Given the description of an element on the screen output the (x, y) to click on. 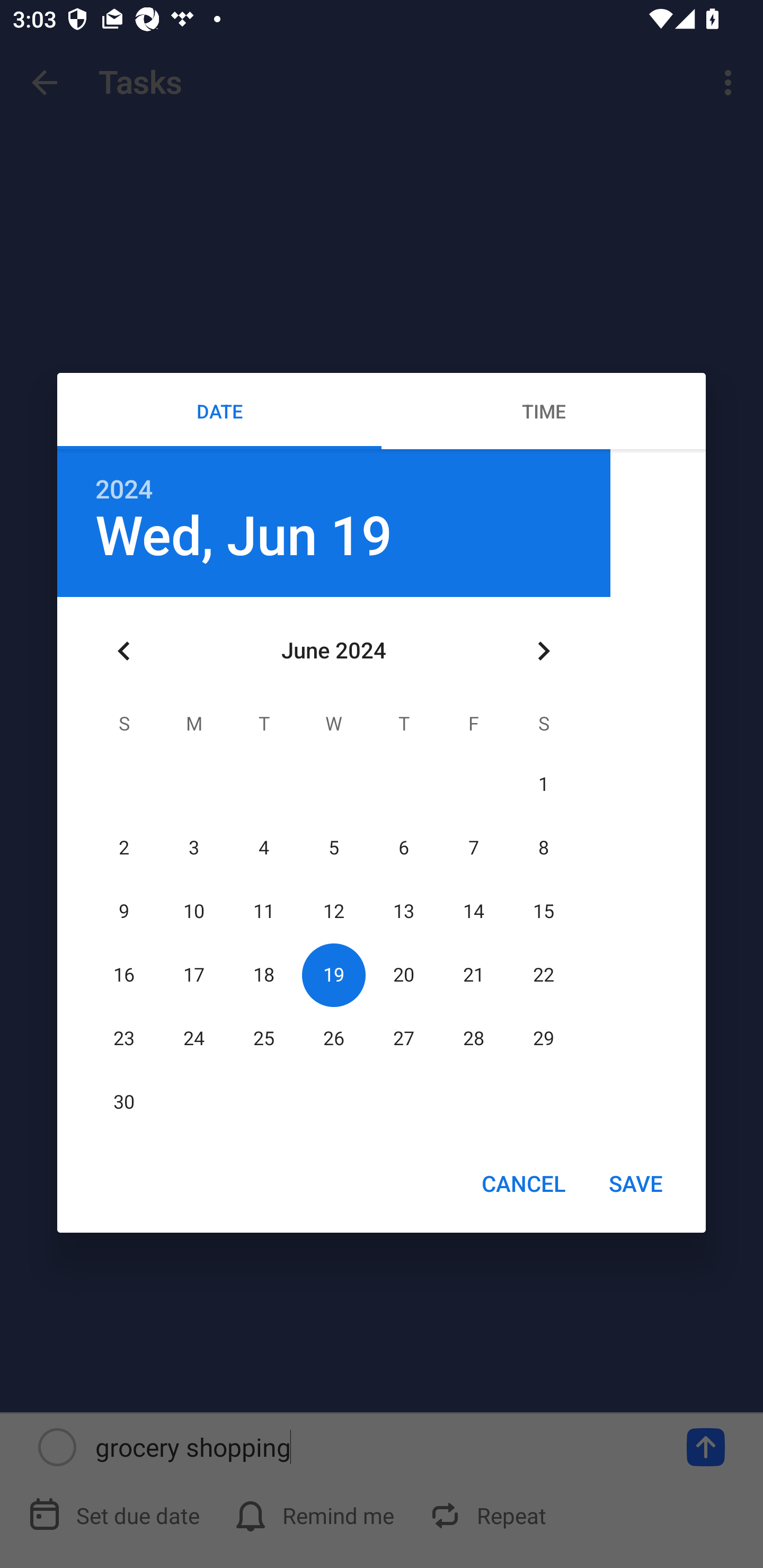
Time TIME (543, 410)
